Given the description of an element on the screen output the (x, y) to click on. 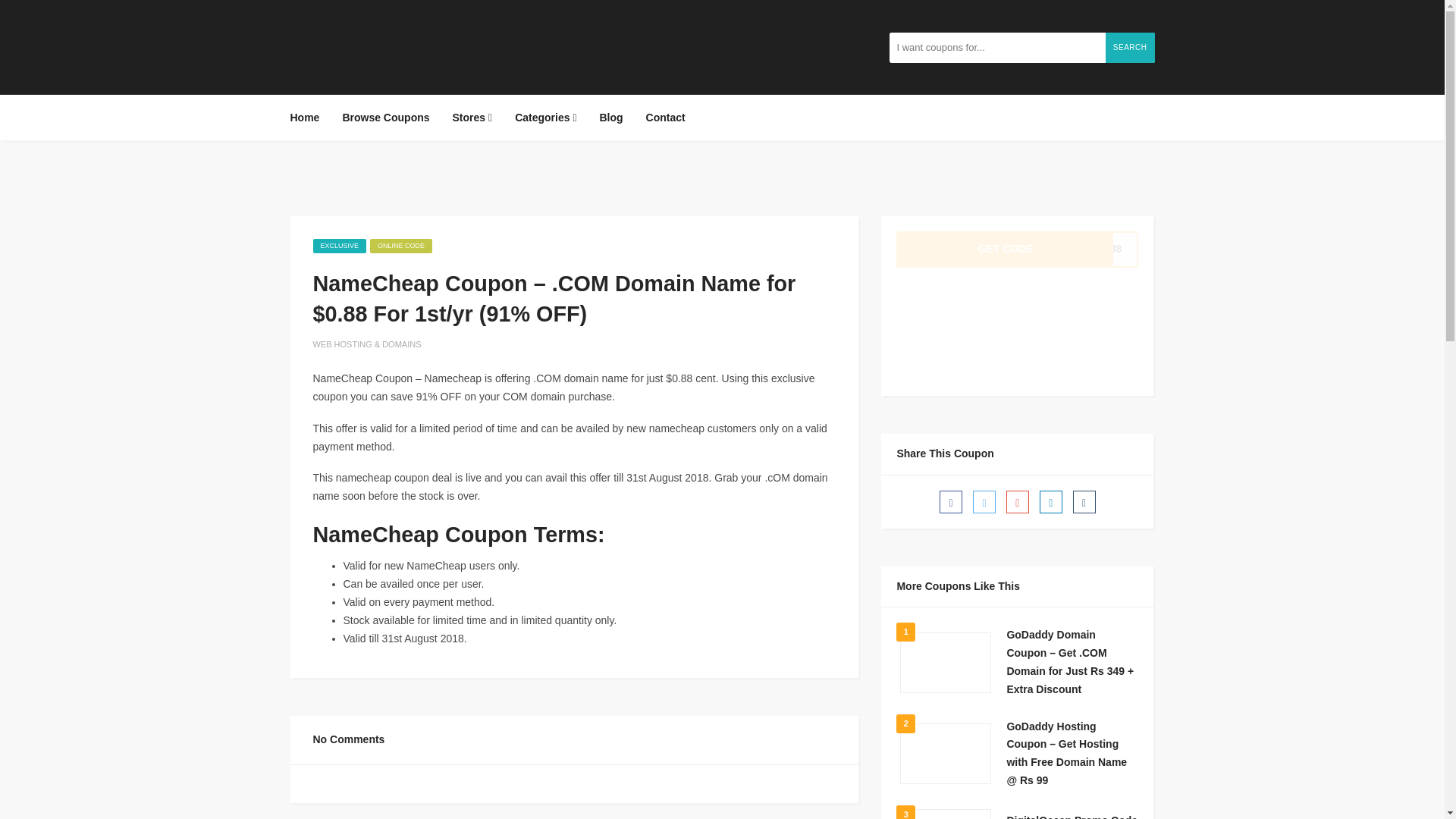
Browse Coupons (385, 117)
Categories (545, 117)
Stores (472, 117)
Categories (545, 117)
Browse Coupons (385, 117)
Blog (611, 117)
SEARCH (1129, 47)
Contact (665, 117)
Stores (1017, 248)
